Given the description of an element on the screen output the (x, y) to click on. 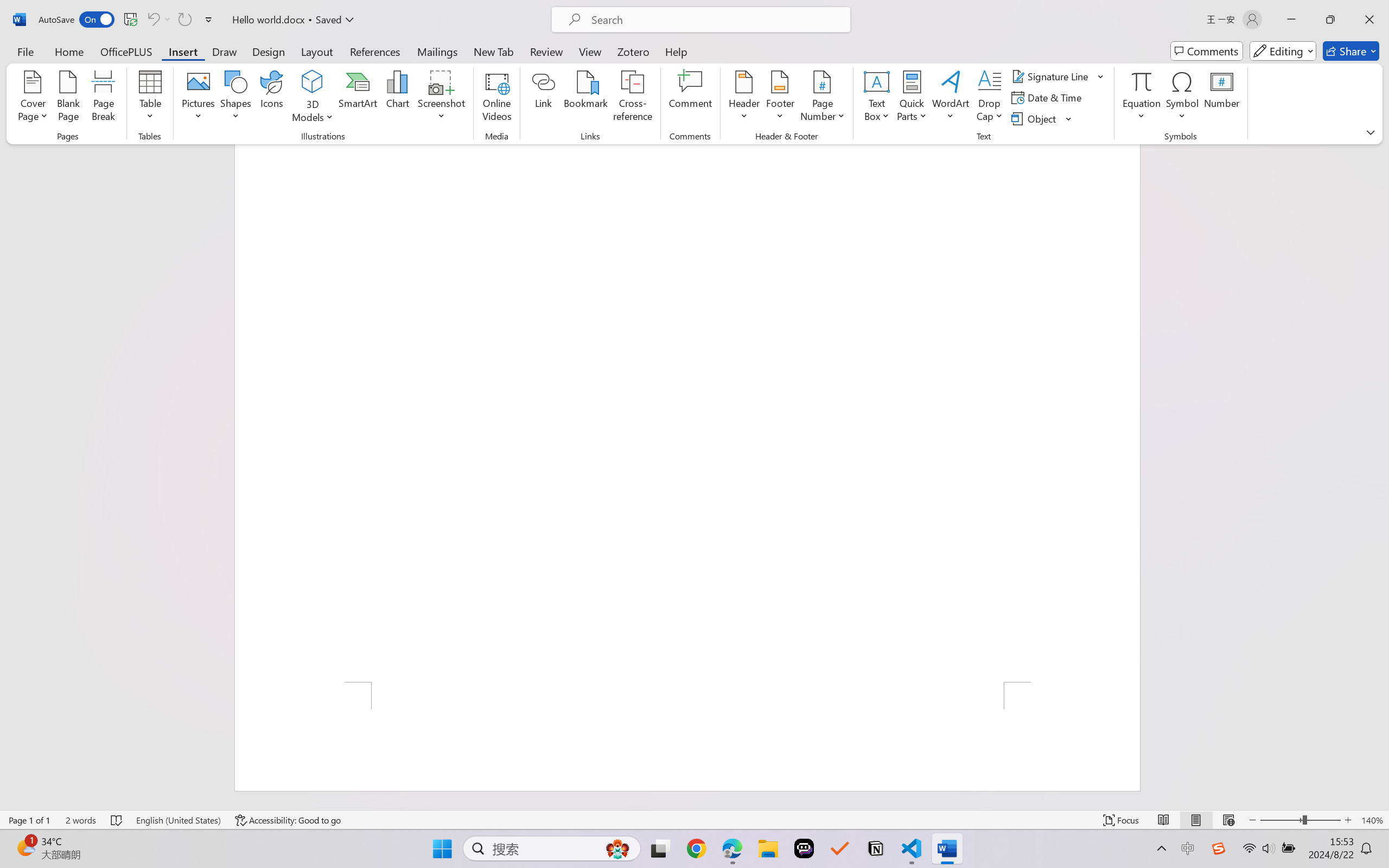
Draw (224, 51)
Poe (804, 848)
Comments (1206, 50)
Language English (United States) (178, 819)
Notion (875, 848)
Zoom In (1348, 819)
Home (69, 51)
Zotero (632, 51)
Web Layout (1228, 819)
Quick Access Toolbar (127, 19)
File Tab (24, 51)
